Given the description of an element on the screen output the (x, y) to click on. 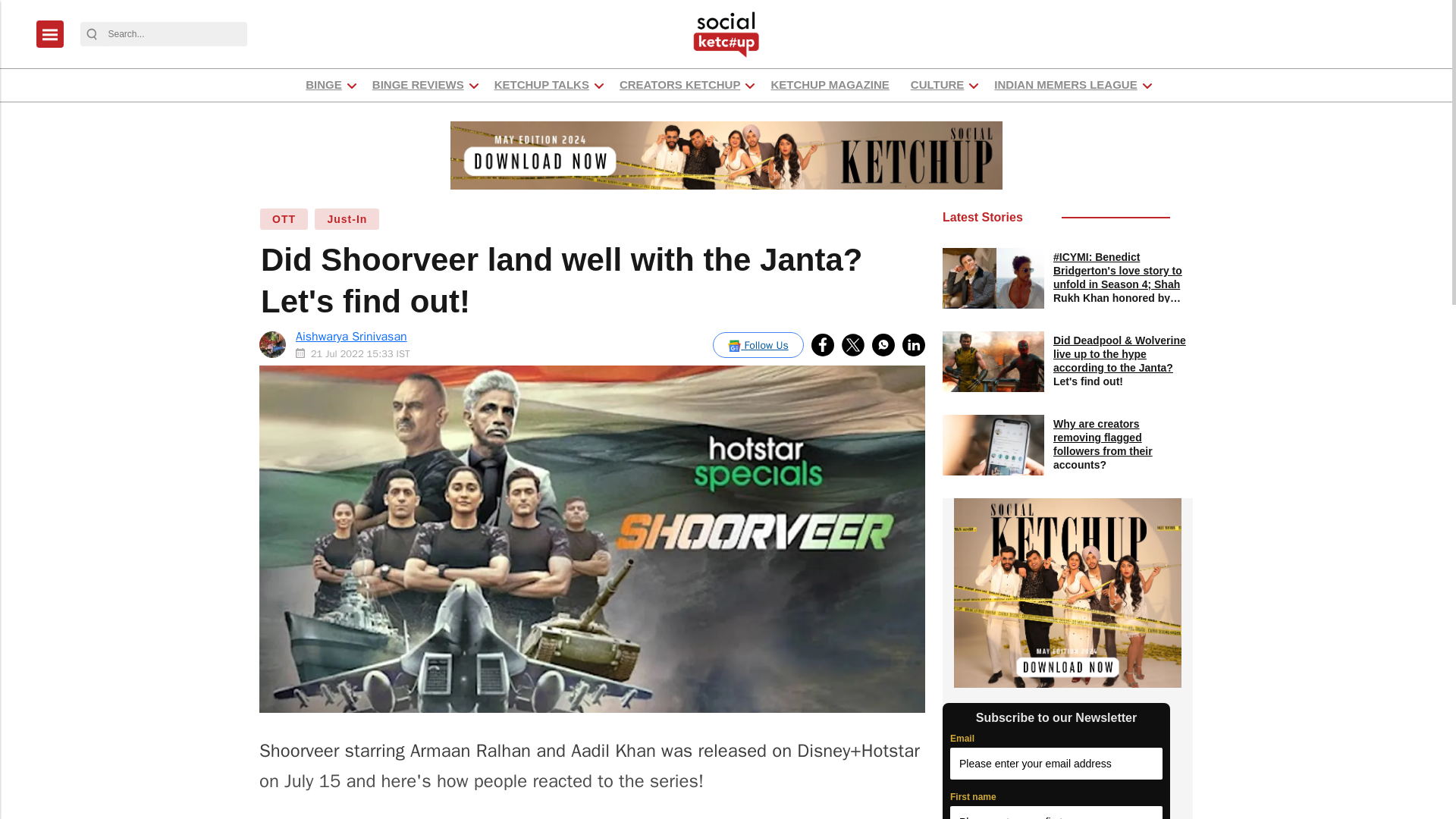
BINGE (323, 84)
INDIAN MEMERS LEAGUE (1064, 84)
KETCHUP MAGAZINE (829, 84)
CULTURE (937, 84)
BINGE REVIEWS (417, 84)
KETCHUP TALKS (541, 84)
CREATORS KETCHUP (679, 84)
